Given the description of an element on the screen output the (x, y) to click on. 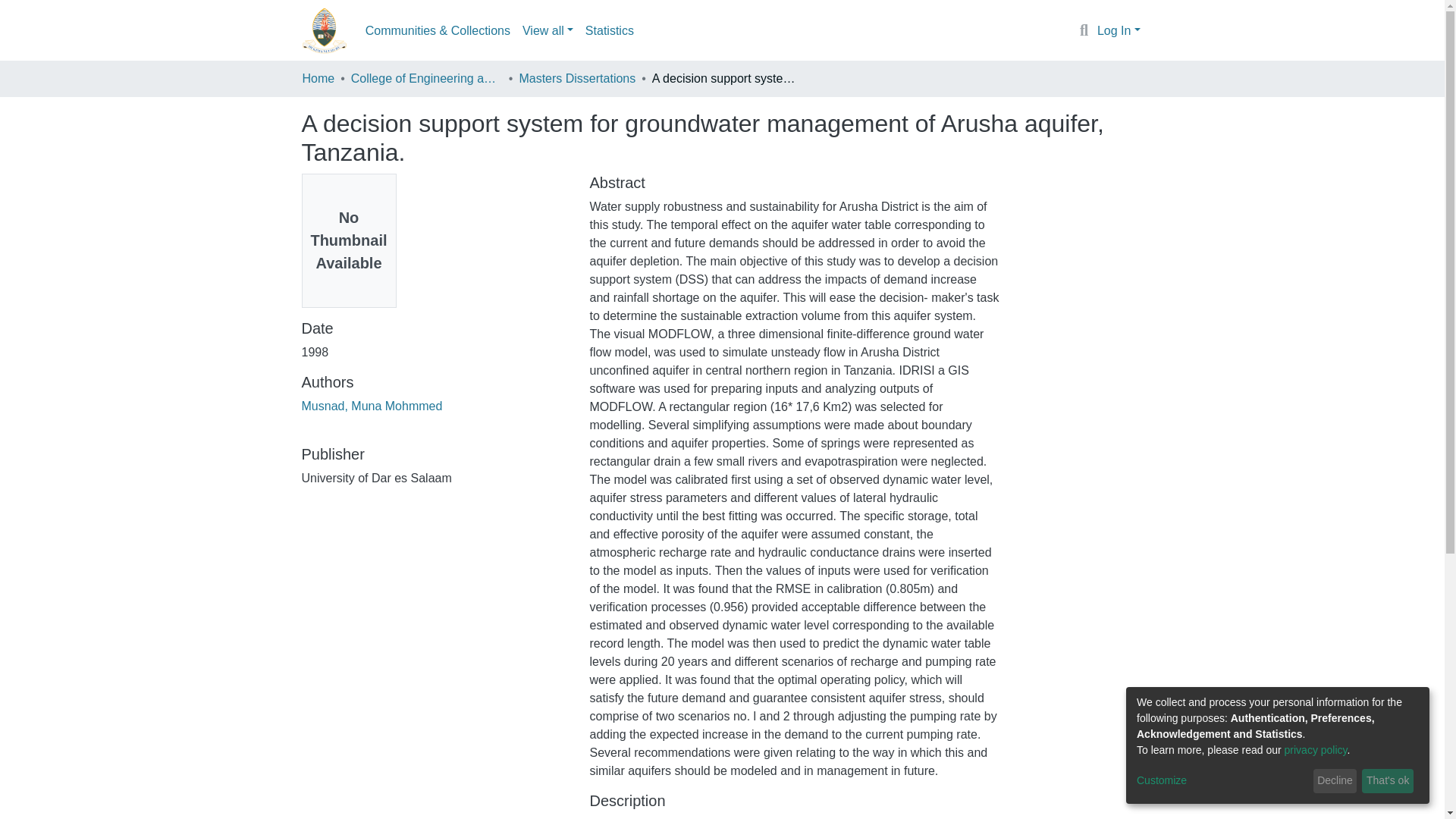
College of Engineering and Technology (426, 78)
Customize (1222, 780)
Log In (1118, 30)
Decline (1334, 781)
Masters Dissertations (576, 78)
privacy policy (1316, 749)
That's ok (1387, 781)
Home (317, 78)
Search (1084, 30)
View all (547, 30)
Statistics (609, 30)
Musnad, Muna Mohmmed (371, 405)
Statistics (609, 30)
